Given the description of an element on the screen output the (x, y) to click on. 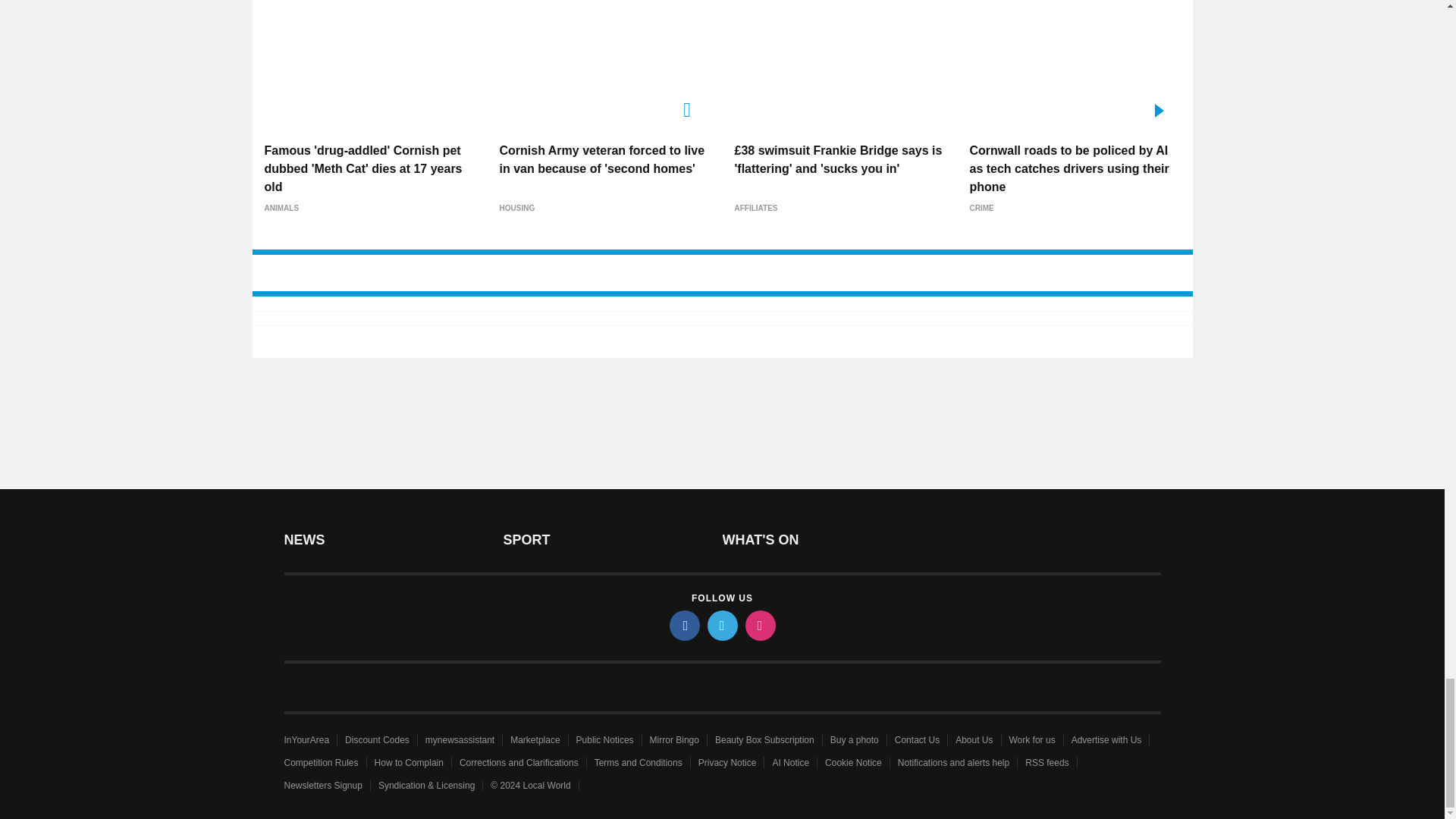
facebook (683, 625)
instagram (759, 625)
twitter (721, 625)
